Given the description of an element on the screen output the (x, y) to click on. 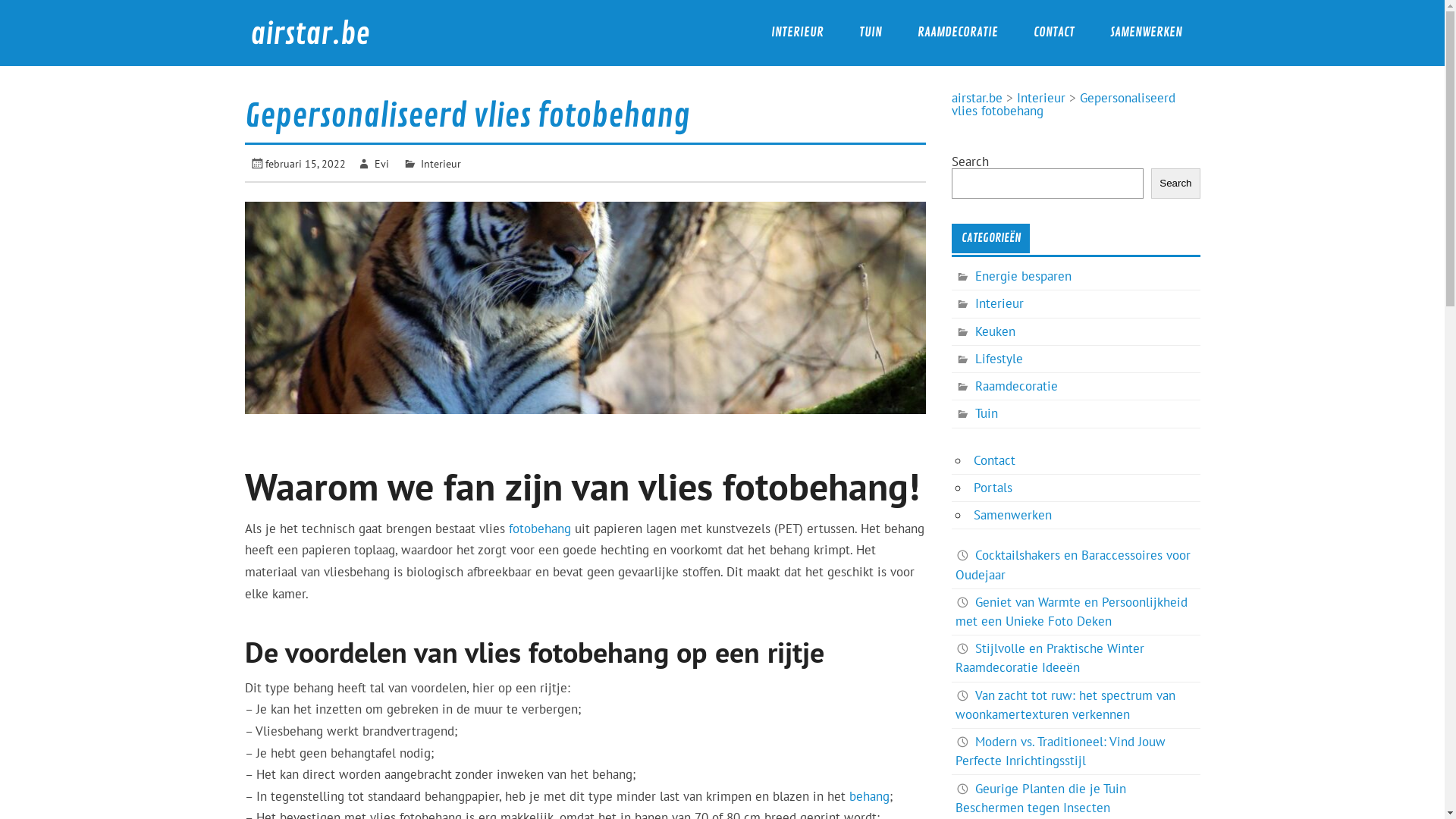
Interieur Element type: text (440, 163)
februari 15, 2022 Element type: text (305, 163)
Keuken Element type: text (985, 331)
Contact Element type: text (994, 459)
Gepersonaliseerd vlies fotobehang Element type: text (1063, 104)
Lifestyle Element type: text (988, 358)
airstar.be Element type: text (976, 97)
Geurige Planten die je Tuin Beschermen tegen Insecten Element type: text (1040, 797)
SAMENWERKEN Element type: text (1145, 32)
fotobehang Element type: text (539, 528)
INTERIEUR Element type: text (796, 32)
Modern vs. Traditioneel: Vind Jouw Perfecte Inrichtingsstijl Element type: text (1060, 750)
RAAMDECORATIE Element type: text (957, 32)
Interieur Element type: text (989, 303)
CONTACT Element type: text (1053, 32)
Search Element type: text (1175, 183)
Cocktailshakers en Baraccessoires voor Oudejaar Element type: text (1072, 564)
Interieur Element type: text (1040, 97)
Portals Element type: text (992, 487)
airstar.be Element type: text (310, 34)
behang Element type: text (869, 795)
Samenwerken Element type: text (1012, 514)
Tuin Element type: text (976, 413)
Energie besparen Element type: text (1013, 275)
Evi Element type: text (381, 163)
Raamdecoratie Element type: text (1006, 385)
TUIN Element type: text (869, 32)
